Given the description of an element on the screen output the (x, y) to click on. 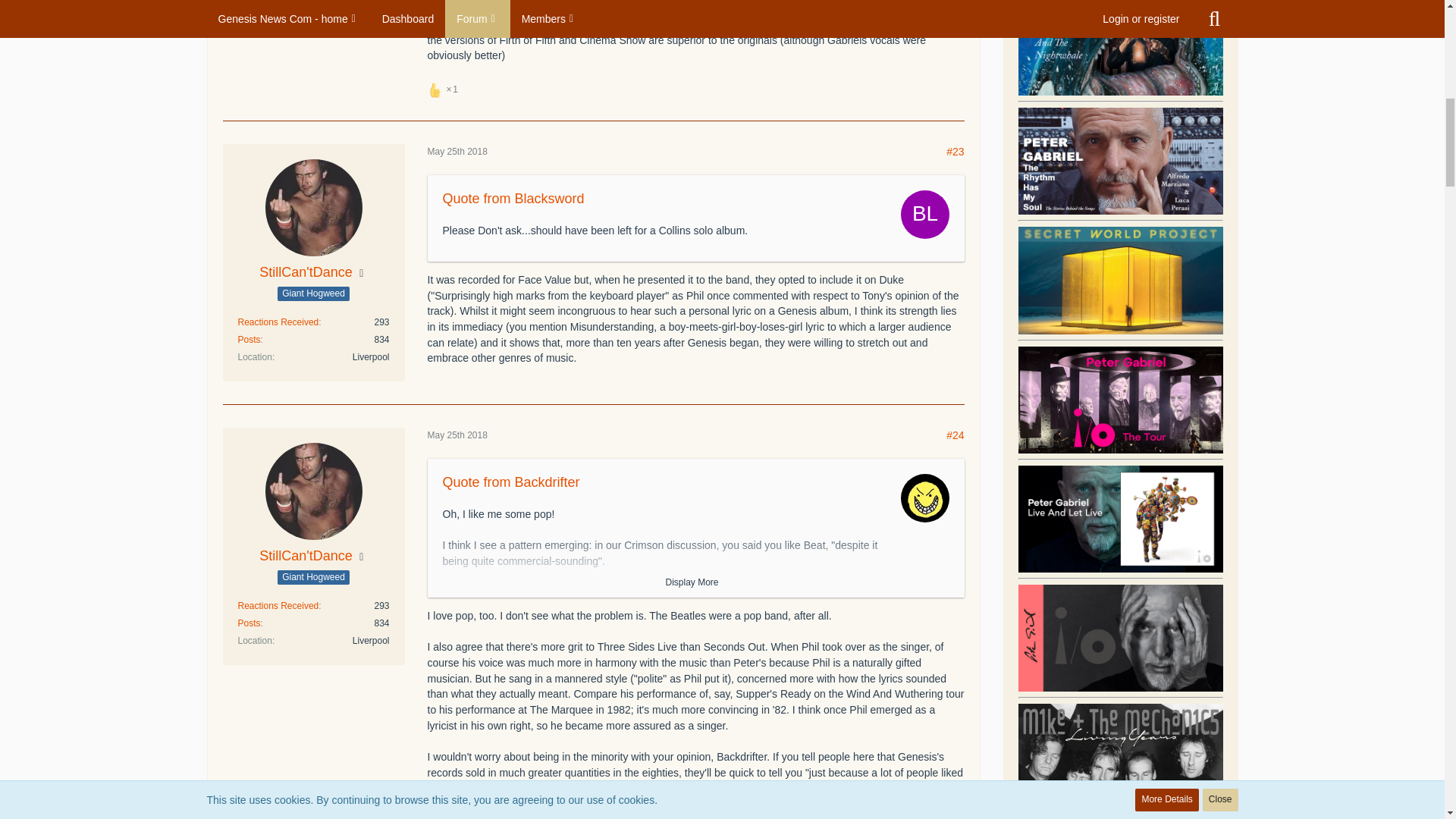
wink (889, 23)
